Given the description of an element on the screen output the (x, y) to click on. 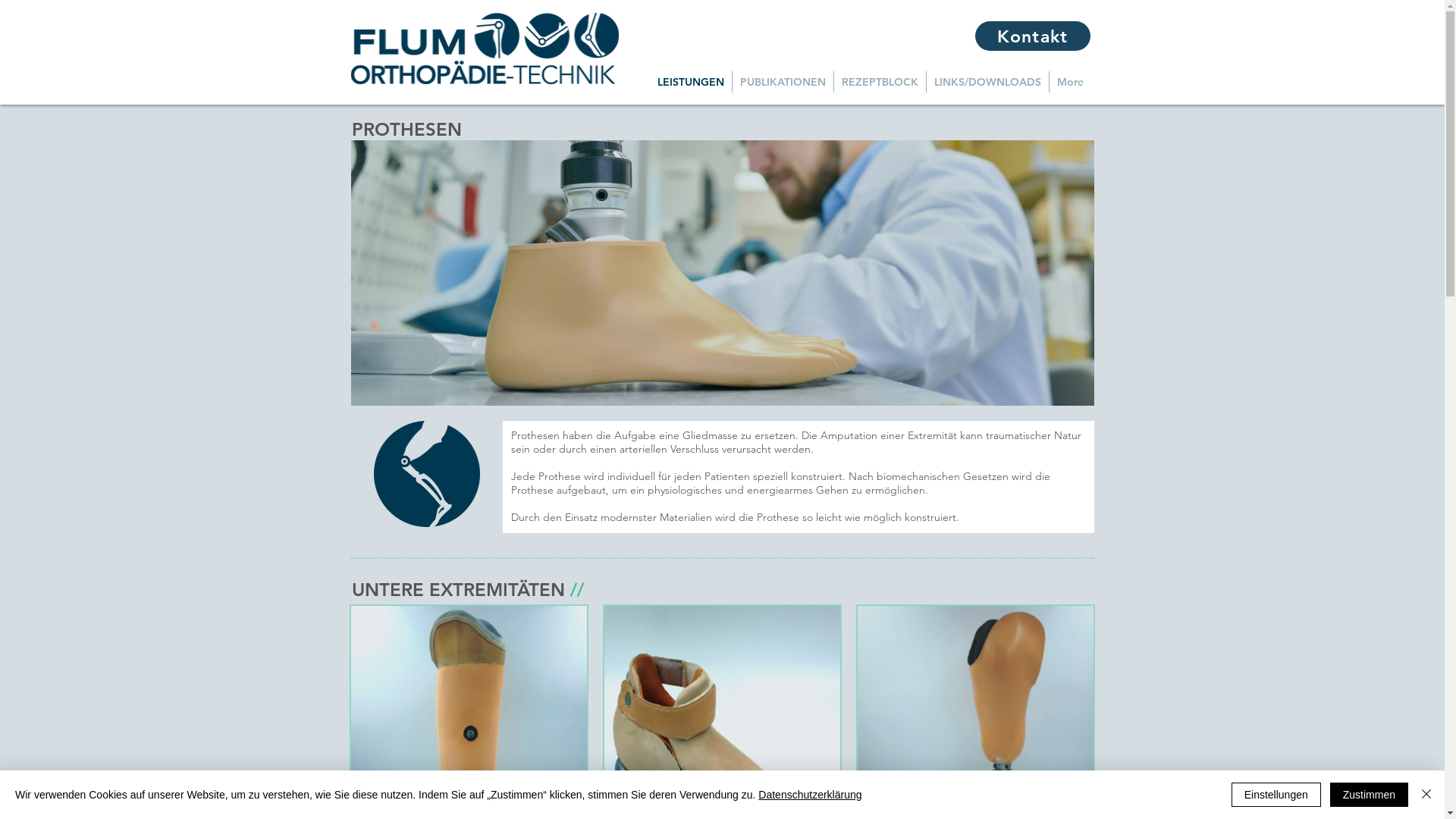
LEISTUNGEN Element type: text (690, 81)
REZEPTBLOCK Element type: text (879, 81)
LINKS/DOWNLOADS Element type: text (987, 81)
Zustimmen Element type: text (1369, 794)
PUBLIKATIONEN Element type: text (782, 81)
Kontakt Element type: text (1032, 35)
Einstellungen Element type: text (1276, 794)
